Given the description of an element on the screen output the (x, y) to click on. 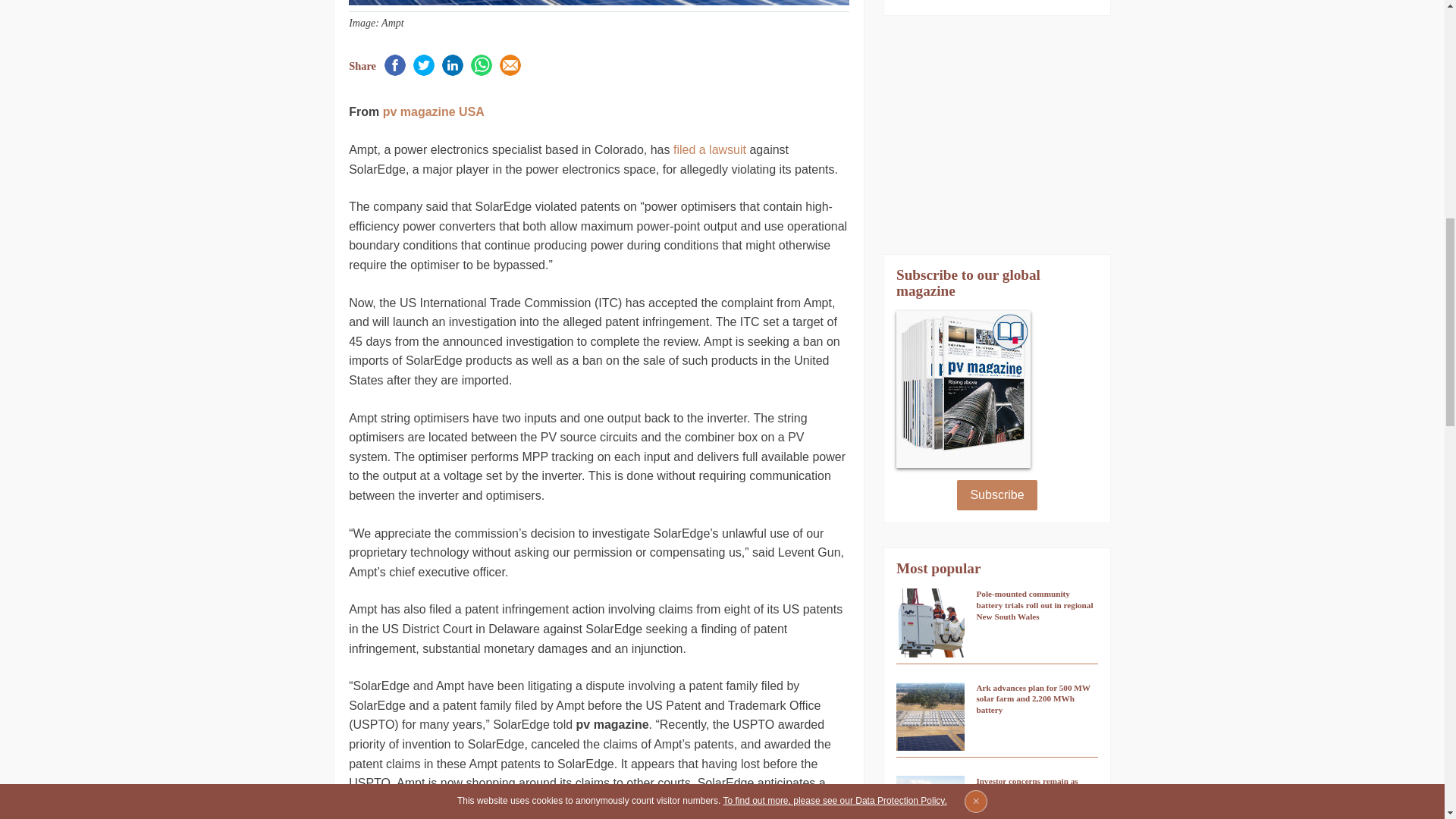
3rd party ad content (996, 135)
